Given the description of an element on the screen output the (x, y) to click on. 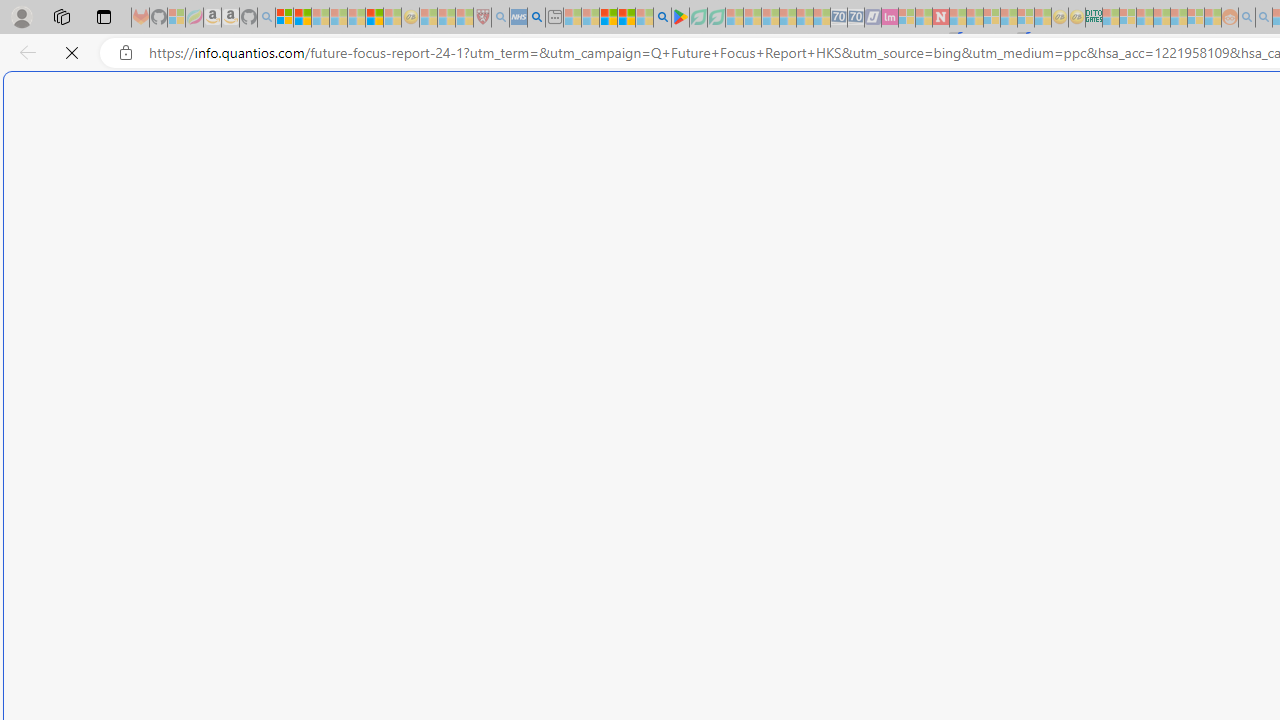
Pets - MSN (626, 17)
Bluey: Let's Play! - Apps on Google Play (680, 17)
